Given the description of an element on the screen output the (x, y) to click on. 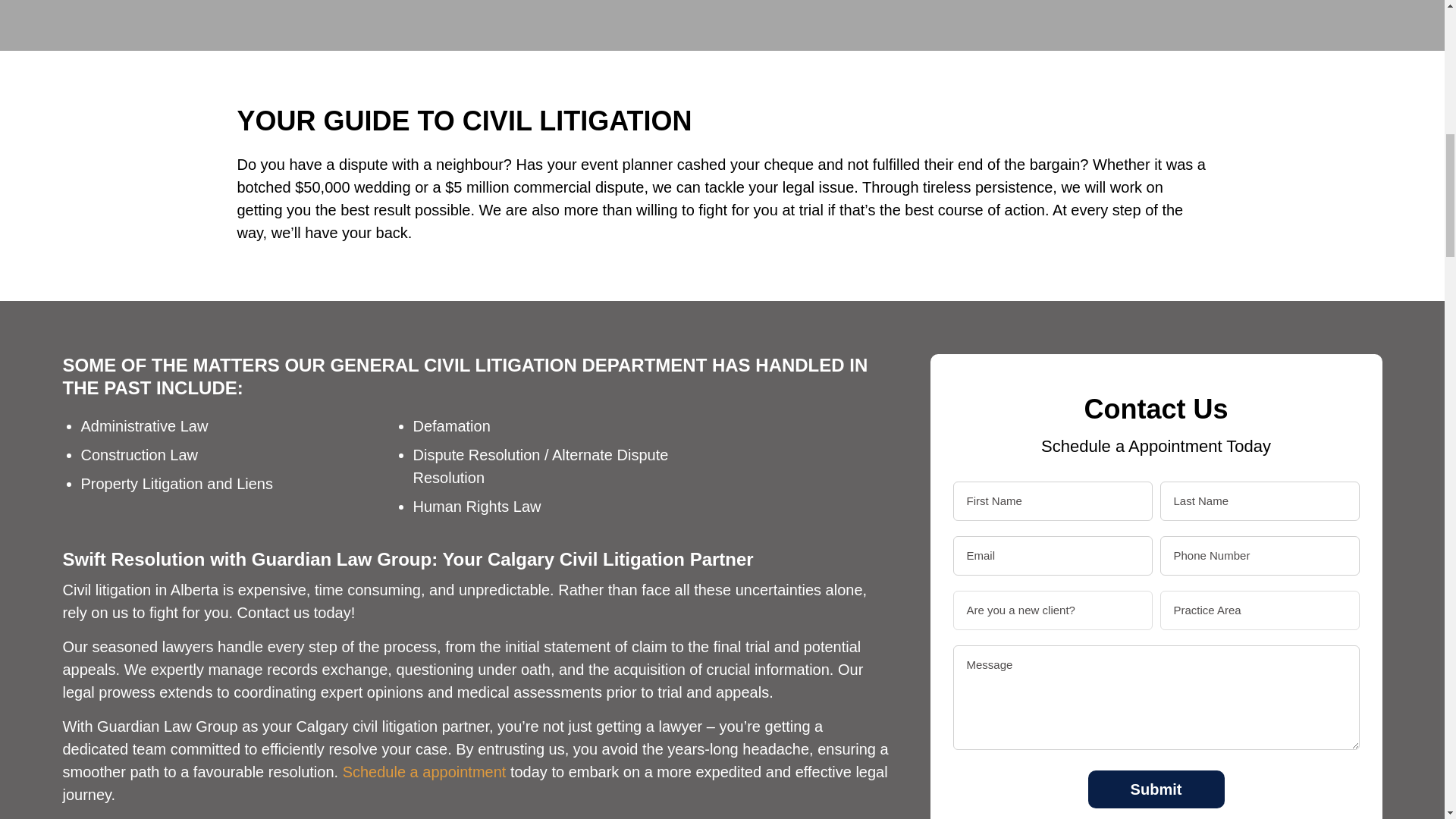
Submit (1155, 789)
